Given the description of an element on the screen output the (x, y) to click on. 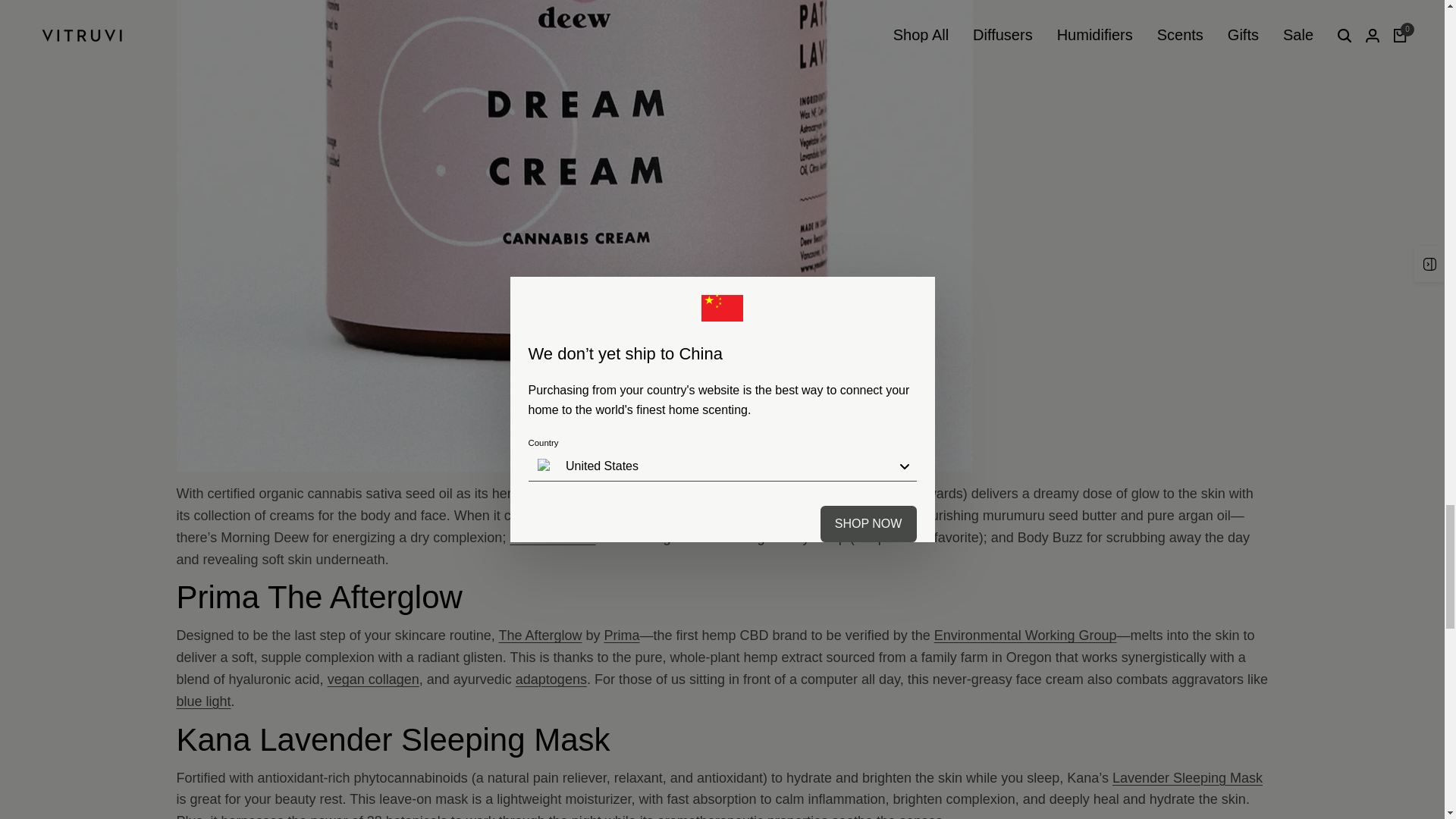
Kana Lavender Sleeping Mask (1187, 777)
Prima (621, 635)
Prima The Afterglow (538, 635)
Deew Dream Cream (552, 537)
Environmental Working Group (1025, 635)
Vegan collagen (373, 679)
Adaptogens (550, 679)
Blue light glasses (203, 701)
